Given the description of an element on the screen output the (x, y) to click on. 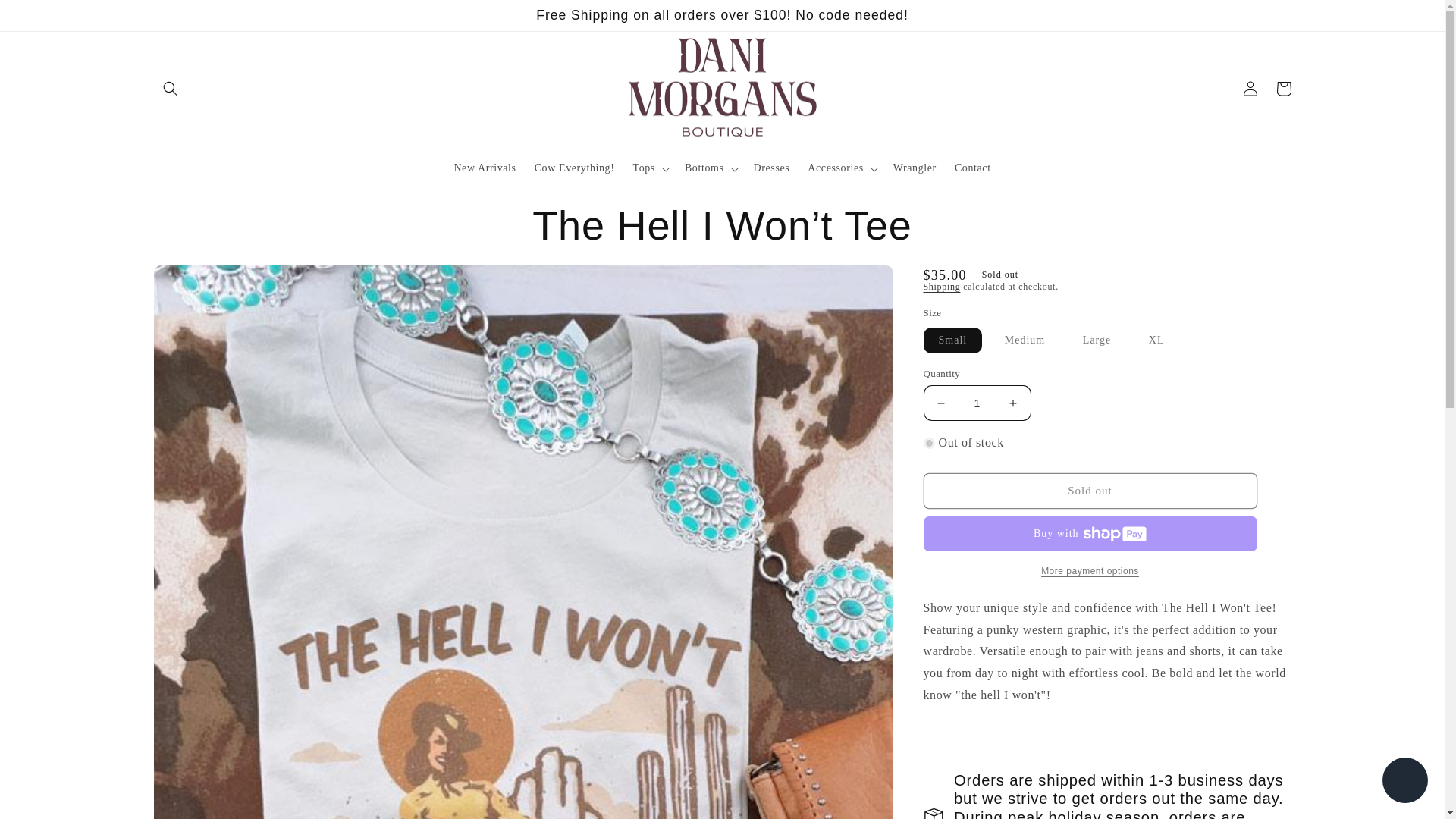
Shopify online store chat (1404, 781)
1 (976, 402)
Skip to content (45, 17)
